Given the description of an element on the screen output the (x, y) to click on. 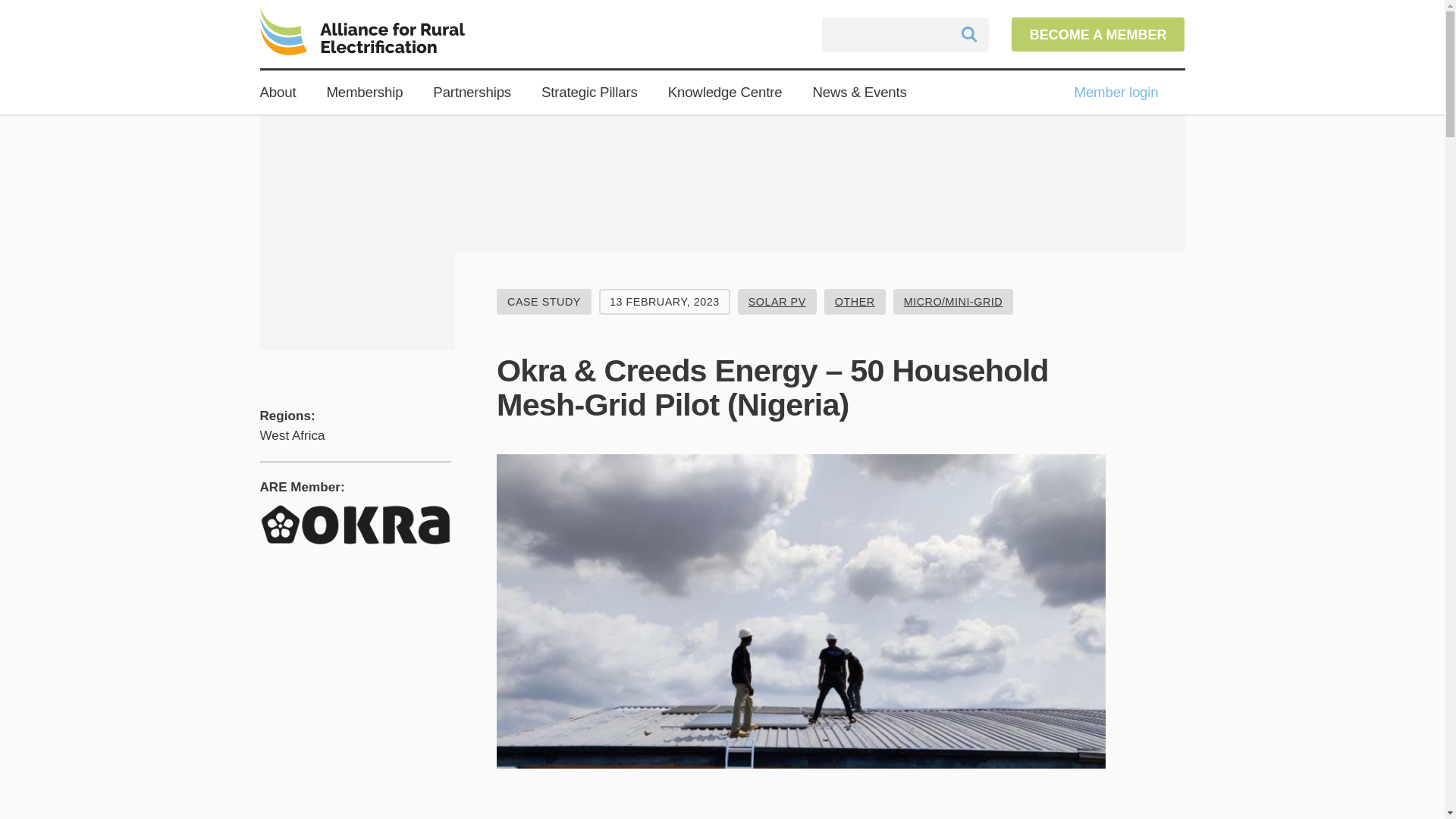
Membership (364, 93)
BECOME A MEMBER (1098, 33)
Okra (355, 524)
Knowledge Centre (725, 93)
Partnerships (471, 93)
About (277, 93)
Strategic Pillars (589, 93)
Member login (1116, 93)
